Given the description of an element on the screen output the (x, y) to click on. 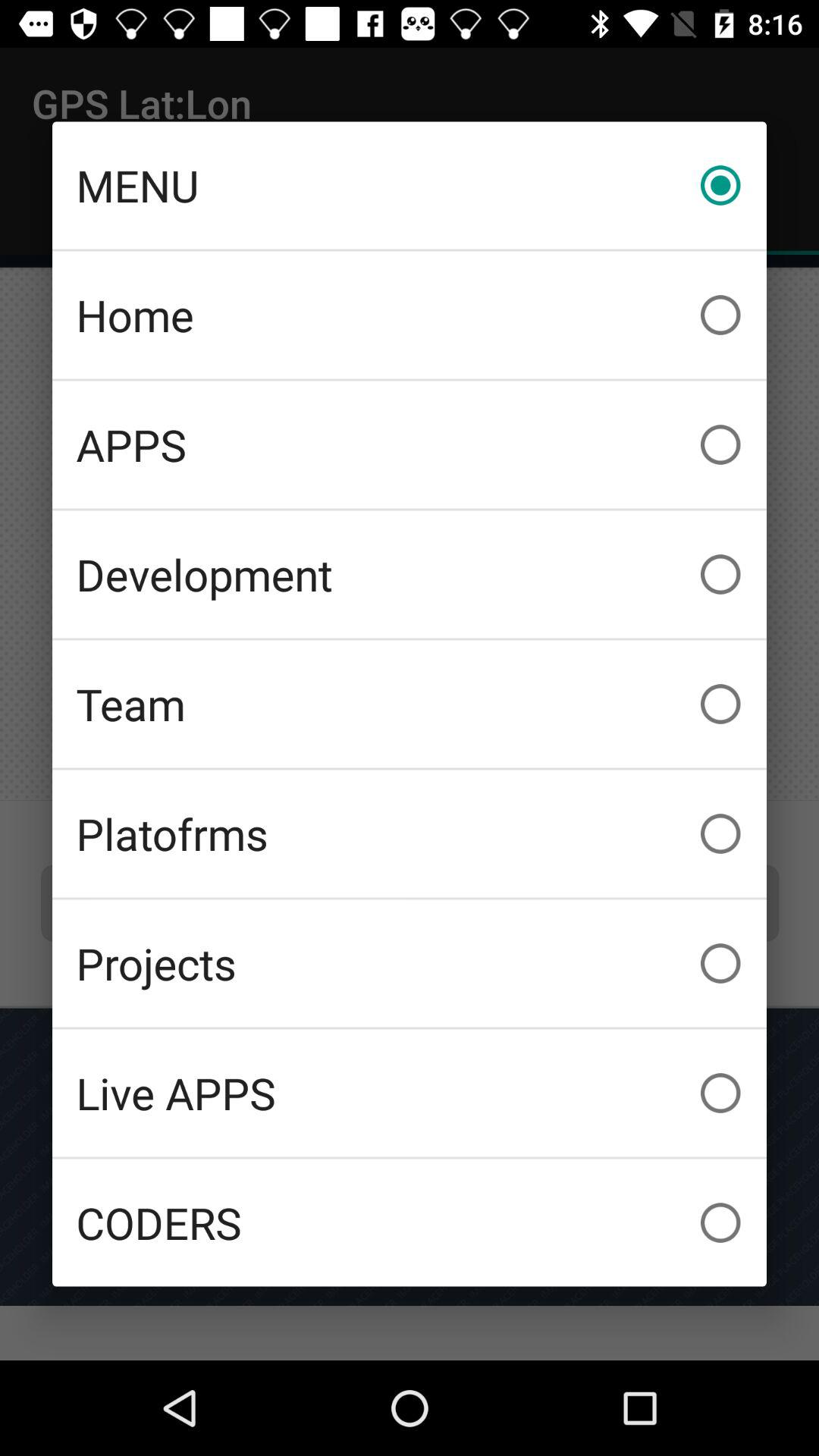
flip until the platofrms icon (409, 833)
